Given the description of an element on the screen output the (x, y) to click on. 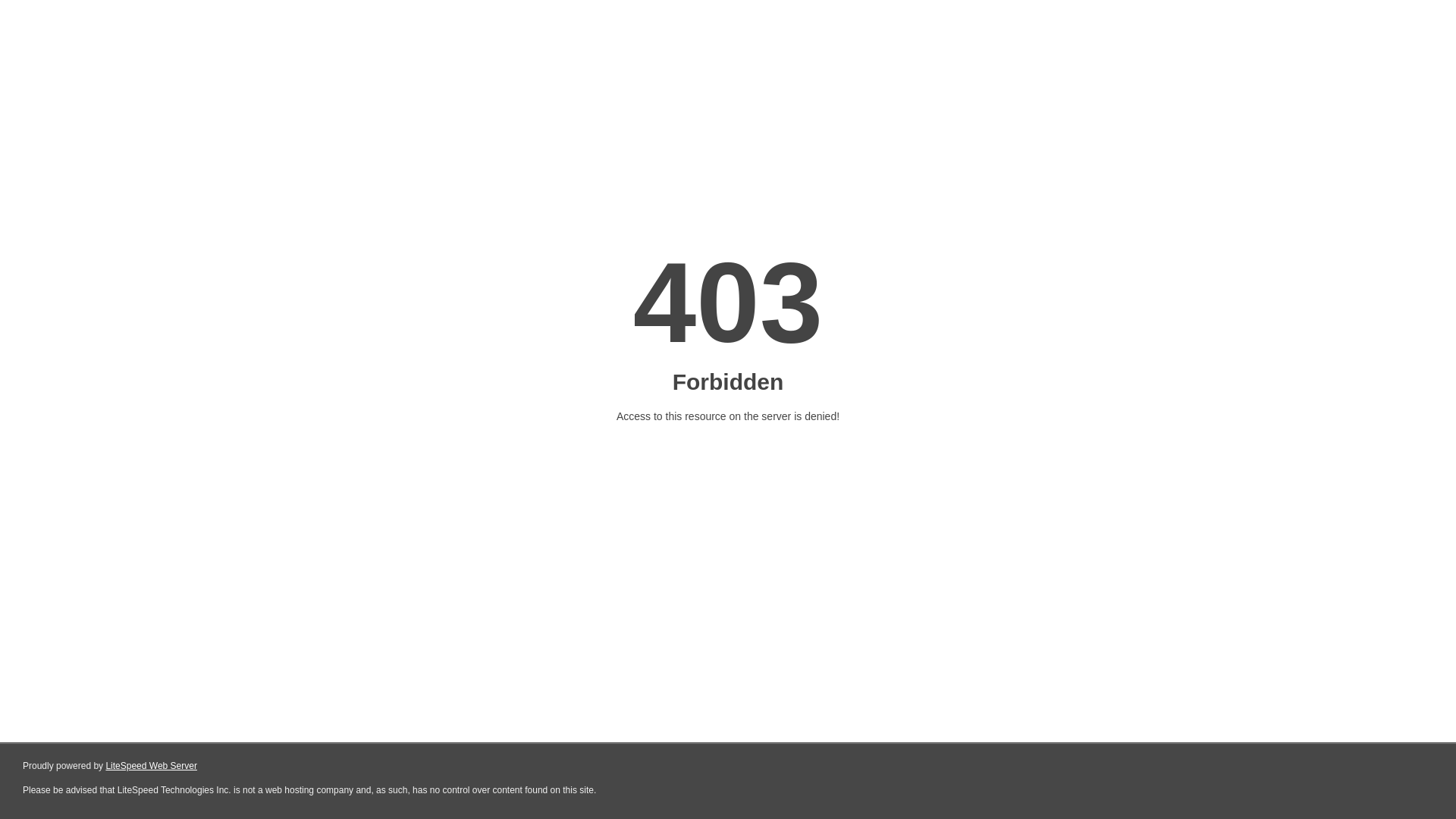
LiteSpeed Web Server Element type: text (151, 765)
